Given the description of an element on the screen output the (x, y) to click on. 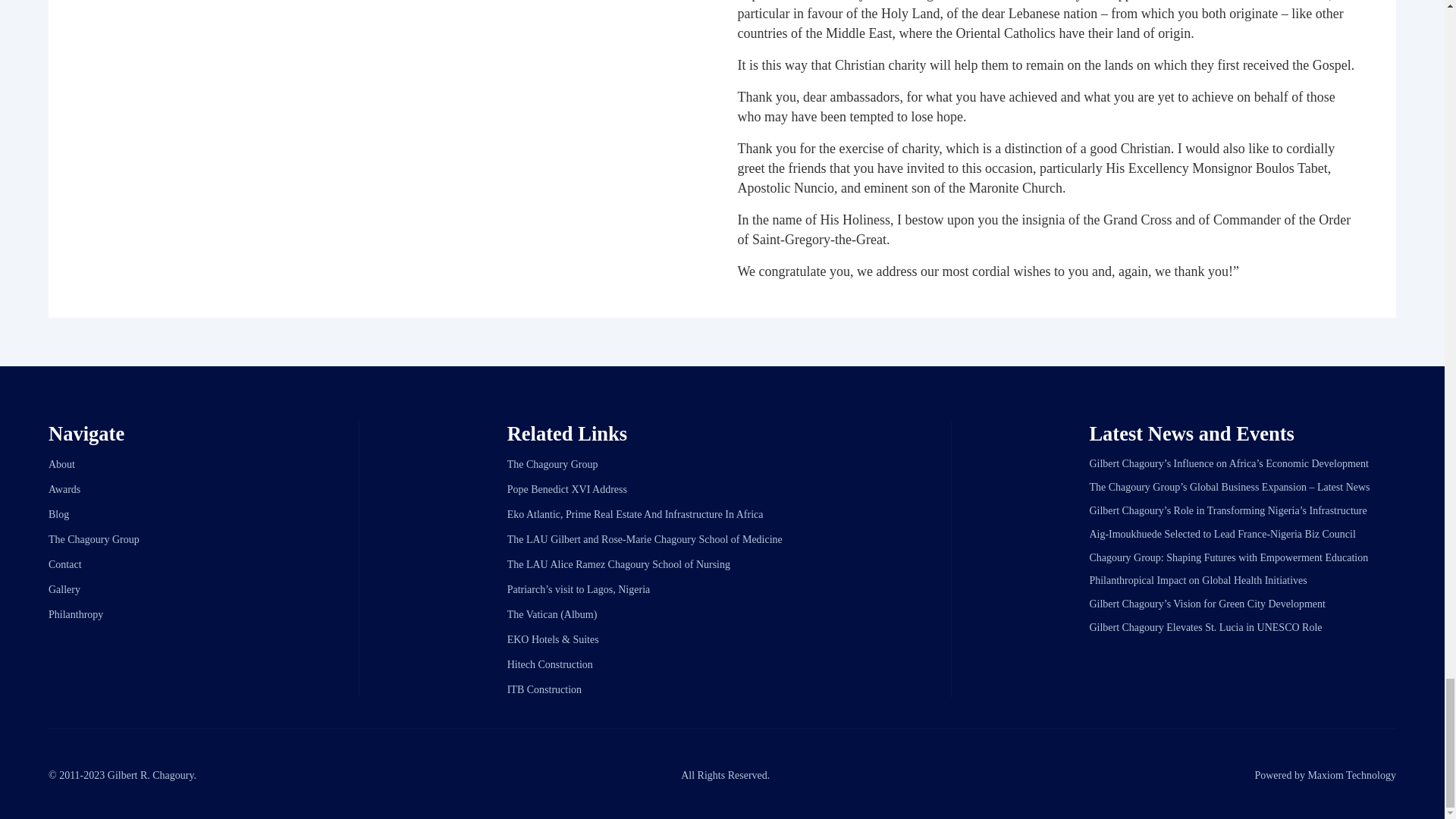
Blog (58, 514)
The LAU Alice Ramez Chagoury School of Nursing (618, 564)
Gilbert Chagoury Elevates St. Lucia in UNESCO Role (1205, 627)
The Chagoury Group (93, 539)
Hitech Construction (549, 664)
The LAU Gilbert and Rose-Marie Chagoury School of Medicine (644, 539)
The Chagoury Group (552, 464)
Chagoury Group: Shaping Futures with Empowerment Education (1228, 557)
Philanthropy (75, 614)
Philanthropical Impact on Global Health Initiatives (1197, 580)
